Given the description of an element on the screen output the (x, y) to click on. 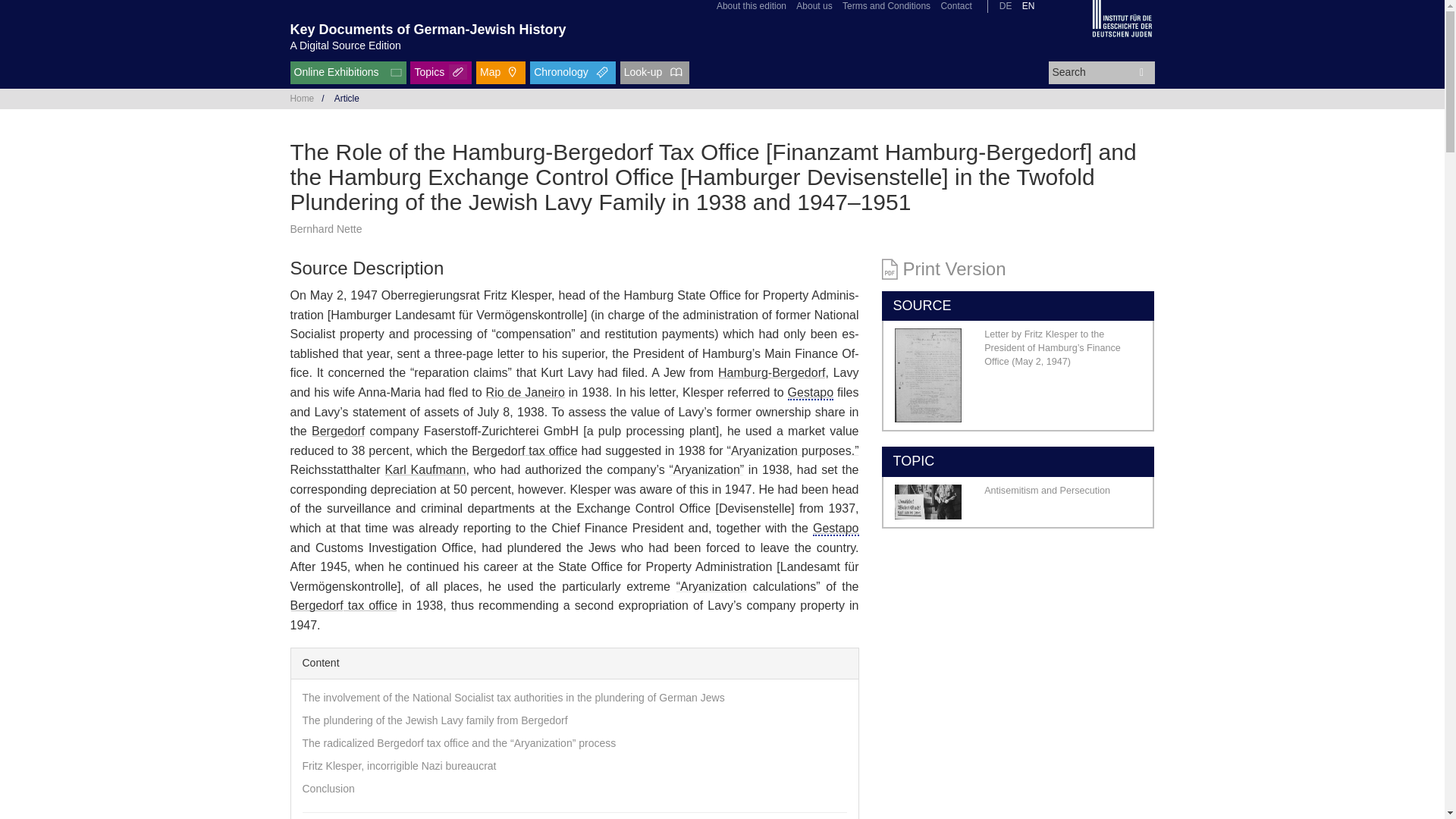
Home (301, 98)
Look-up (655, 72)
Topics (440, 72)
A Digital Source Edition (344, 45)
foreign language material (809, 391)
foreign language material (835, 527)
About this edition (751, 5)
Terms and Conditions (886, 5)
foreign language material (835, 528)
